Given the description of an element on the screen output the (x, y) to click on. 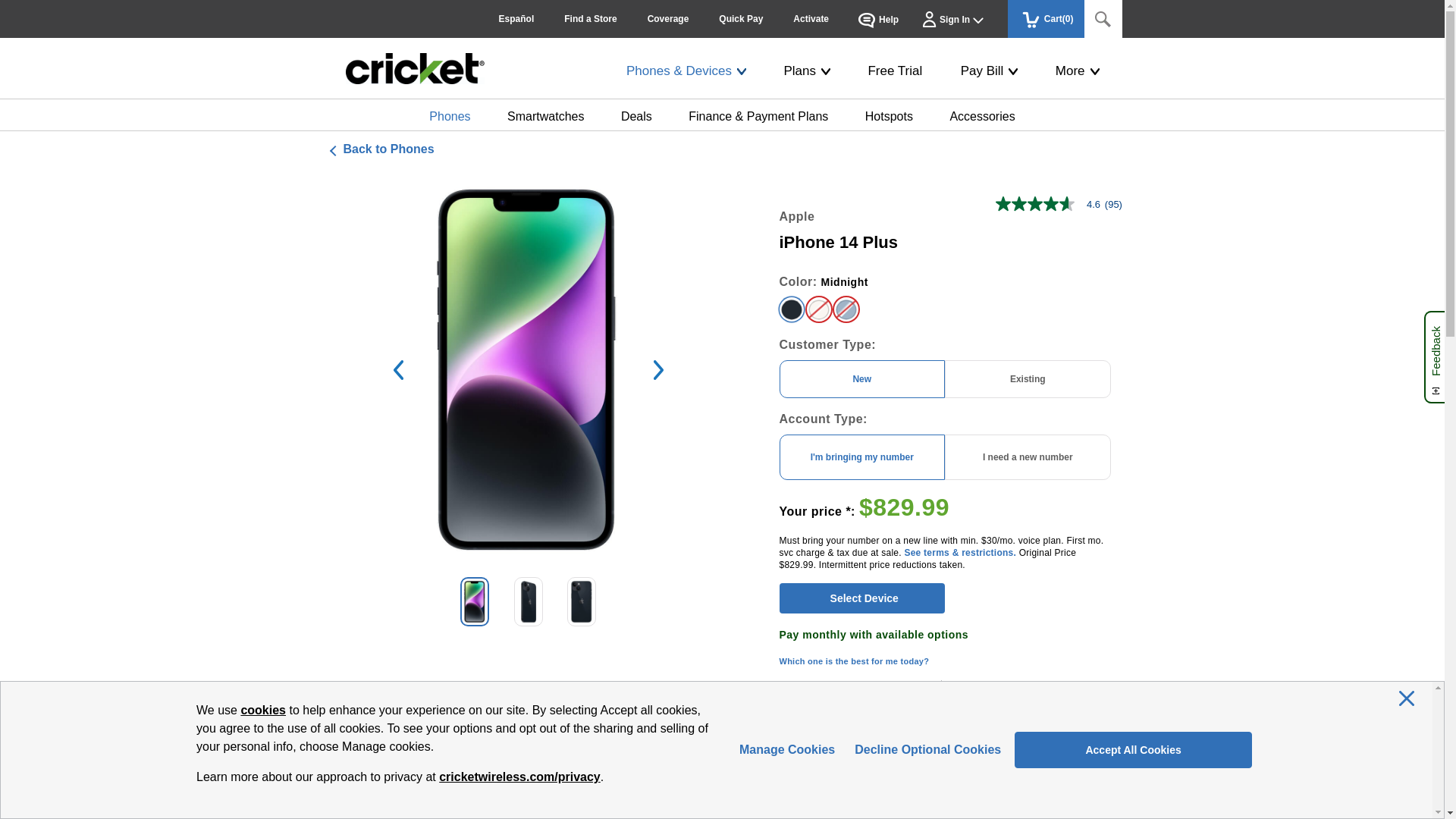
Smartwatches (544, 115)
Quick Pay (740, 18)
Hotspots (888, 115)
Free Trial (895, 70)
Coverage (667, 18)
Plans (806, 70)
Accessories (981, 115)
Activate (810, 18)
Find a Store (589, 18)
Pay Bill (988, 70)
More (1077, 70)
Help (880, 18)
Deals (636, 115)
Sign In (962, 18)
Cricket Wireless Home Page (415, 68)
